Given the description of an element on the screen output the (x, y) to click on. 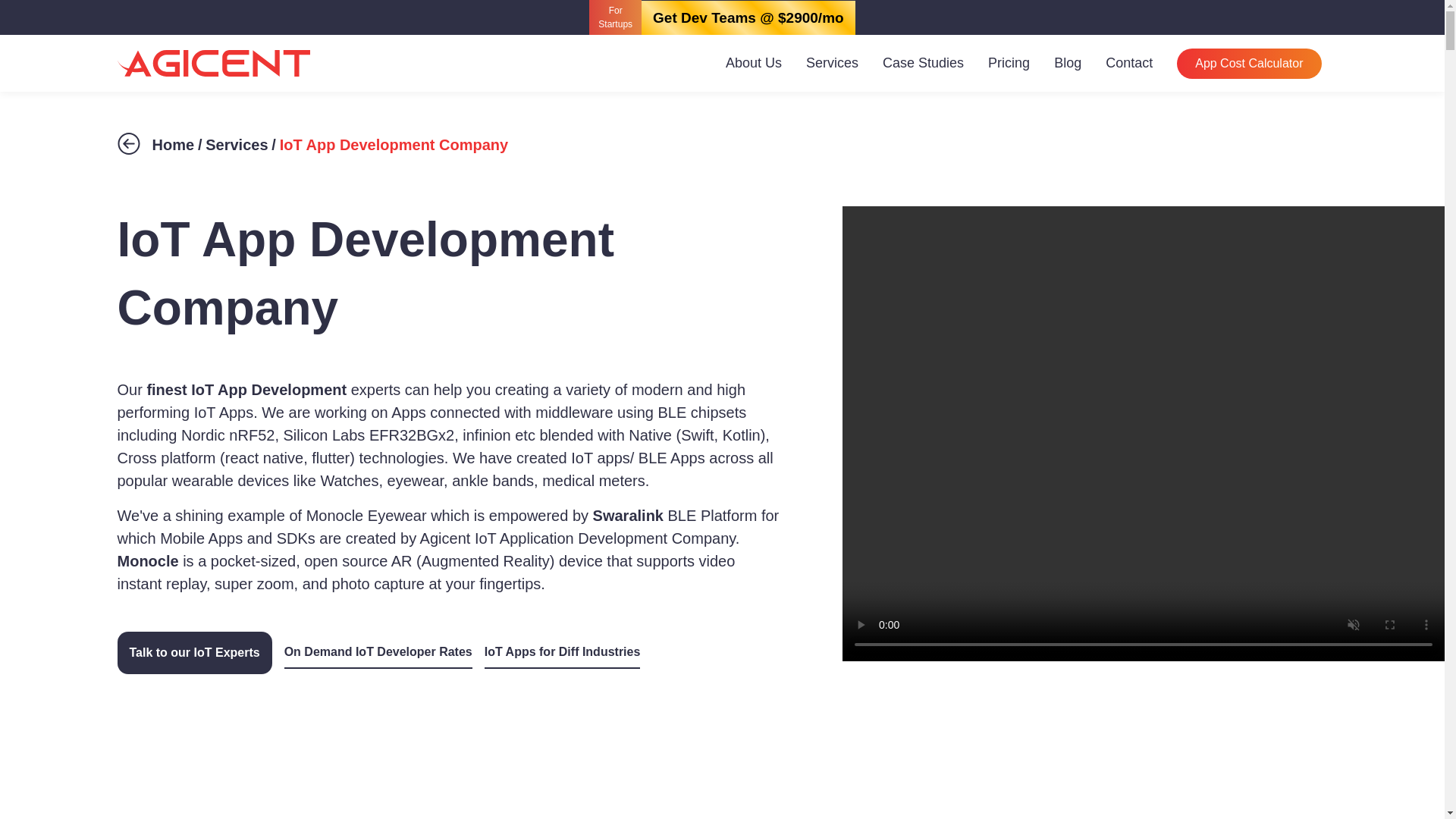
Talk to our IoT Experts (193, 652)
Case Studies (922, 62)
Services (236, 144)
IoT Apps for Diff Industries (562, 653)
Pricing (1008, 62)
On Demand IoT Developer Rates (377, 653)
Services (831, 62)
Home (172, 144)
Contact (1128, 62)
Blog (1067, 62)
App Cost Calculator (1248, 63)
About Us (753, 62)
